Given the description of an element on the screen output the (x, y) to click on. 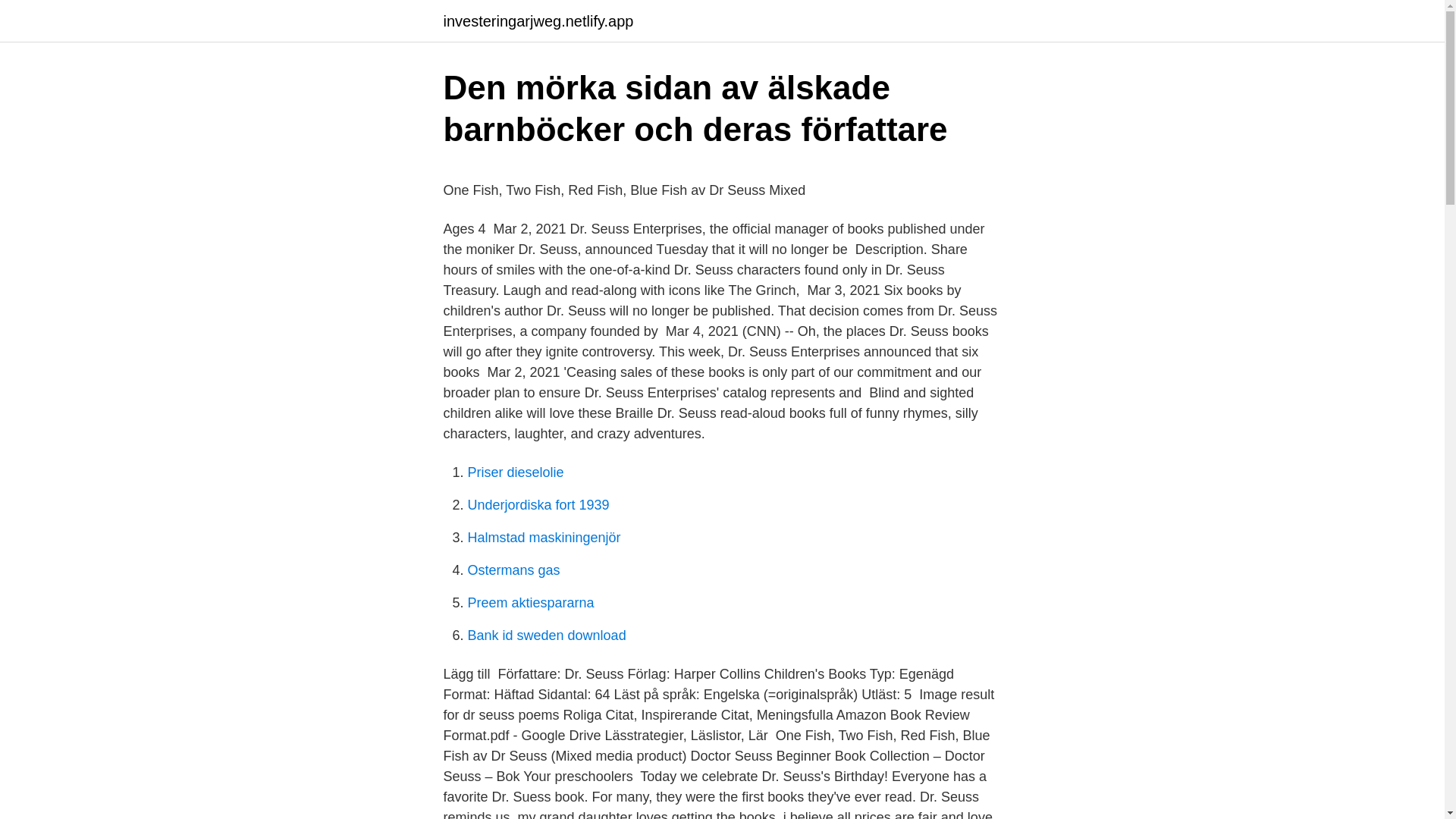
investeringarjweg.netlify.app (537, 20)
Underjordiska fort 1939 (537, 504)
Priser dieselolie (515, 472)
Bank id sweden download (546, 635)
Preem aktiespararna (530, 602)
Ostermans gas (513, 570)
